Given the description of an element on the screen output the (x, y) to click on. 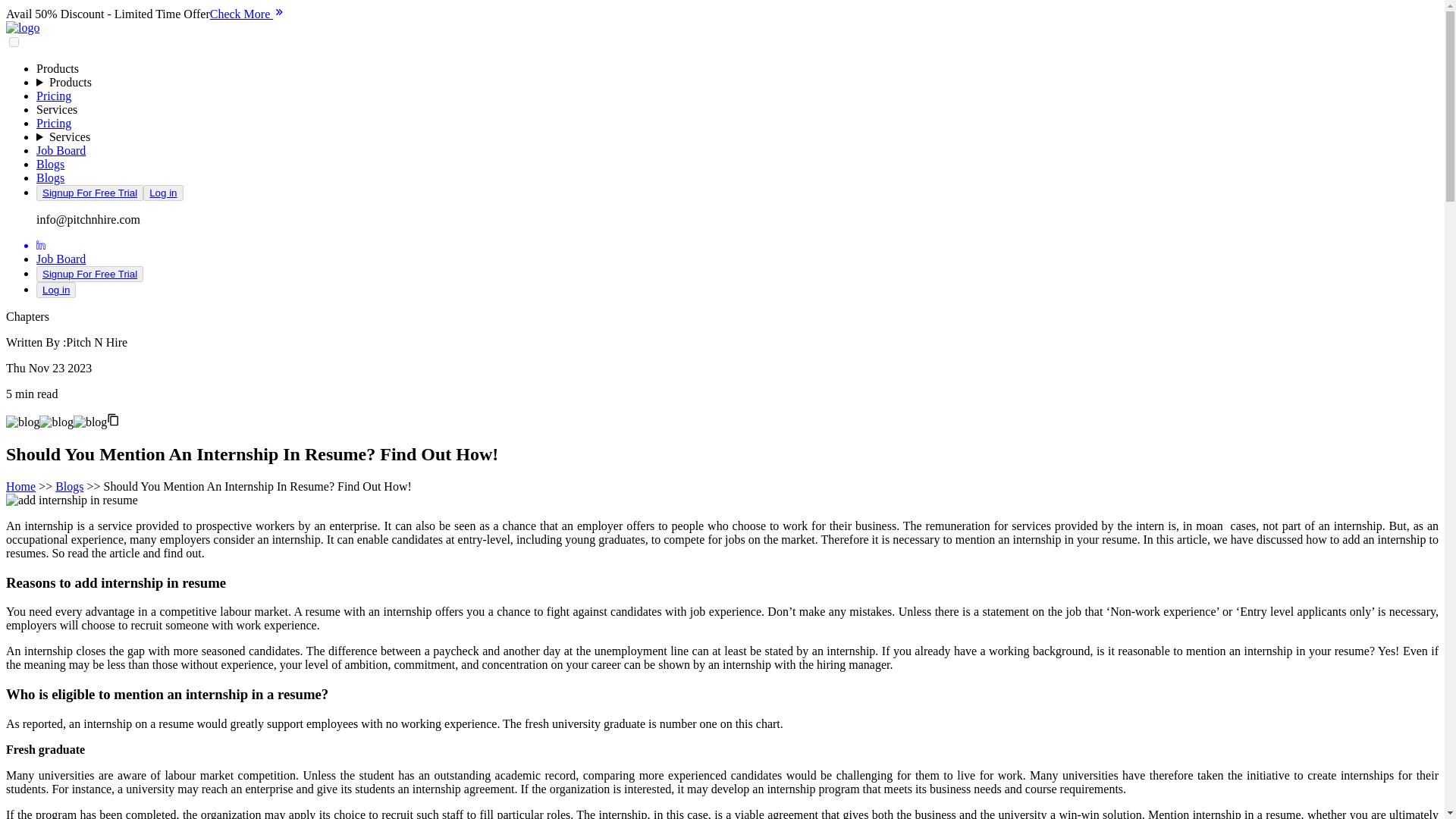
Log in (162, 192)
Blogs (50, 164)
Job Board (60, 150)
Job Board (60, 258)
Pricing (53, 123)
Signup For Free Trial (89, 192)
Check More (247, 13)
Log in (55, 289)
Signup For Free Trial (89, 273)
Log in (162, 193)
Signup For Free Trial (89, 193)
Log in (55, 289)
Signup For Free Trial (89, 274)
Pricing (53, 95)
Blogs (50, 177)
